Given the description of an element on the screen output the (x, y) to click on. 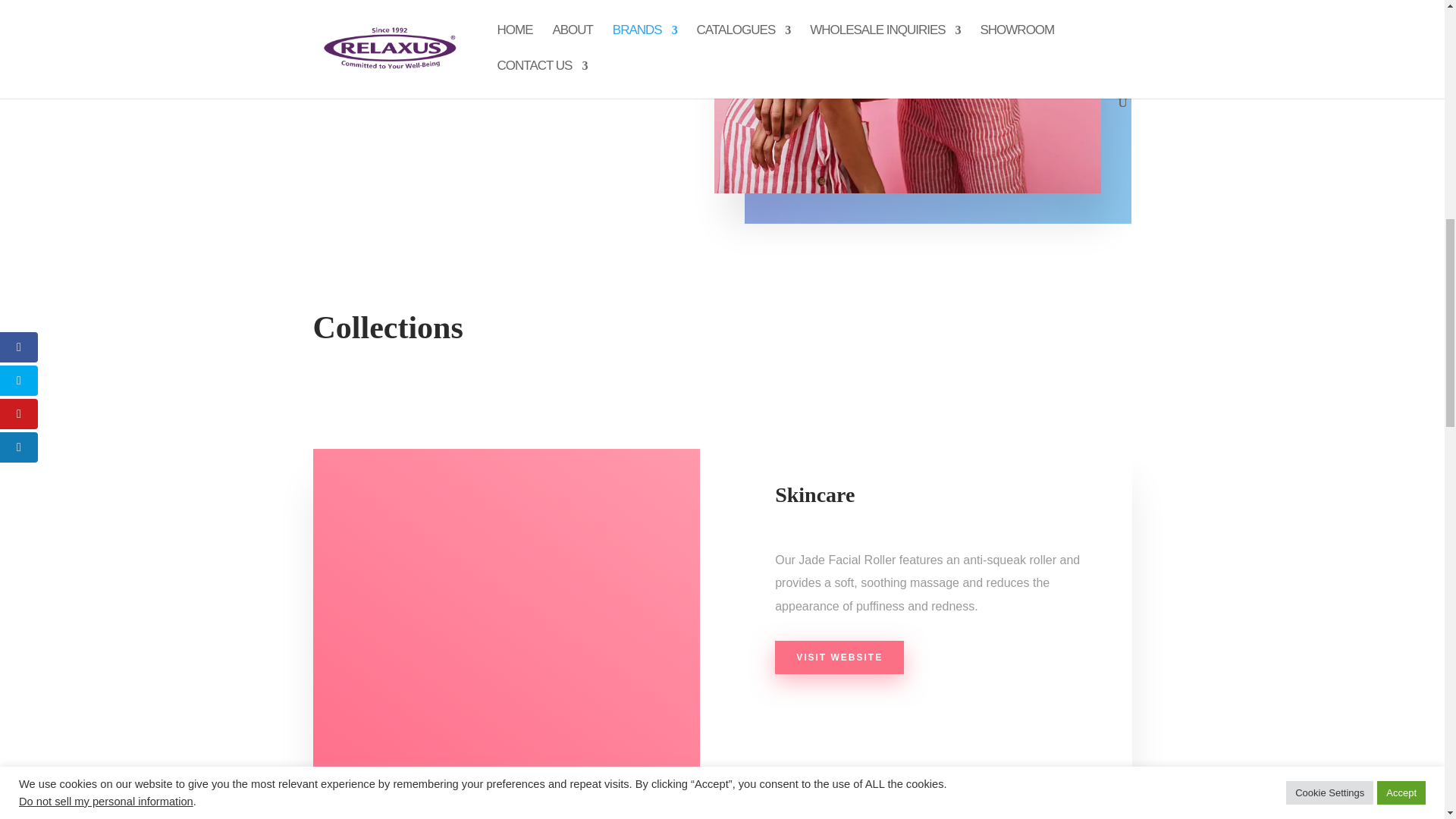
Relaxus Beauty Products (907, 96)
